Given the description of an element on the screen output the (x, y) to click on. 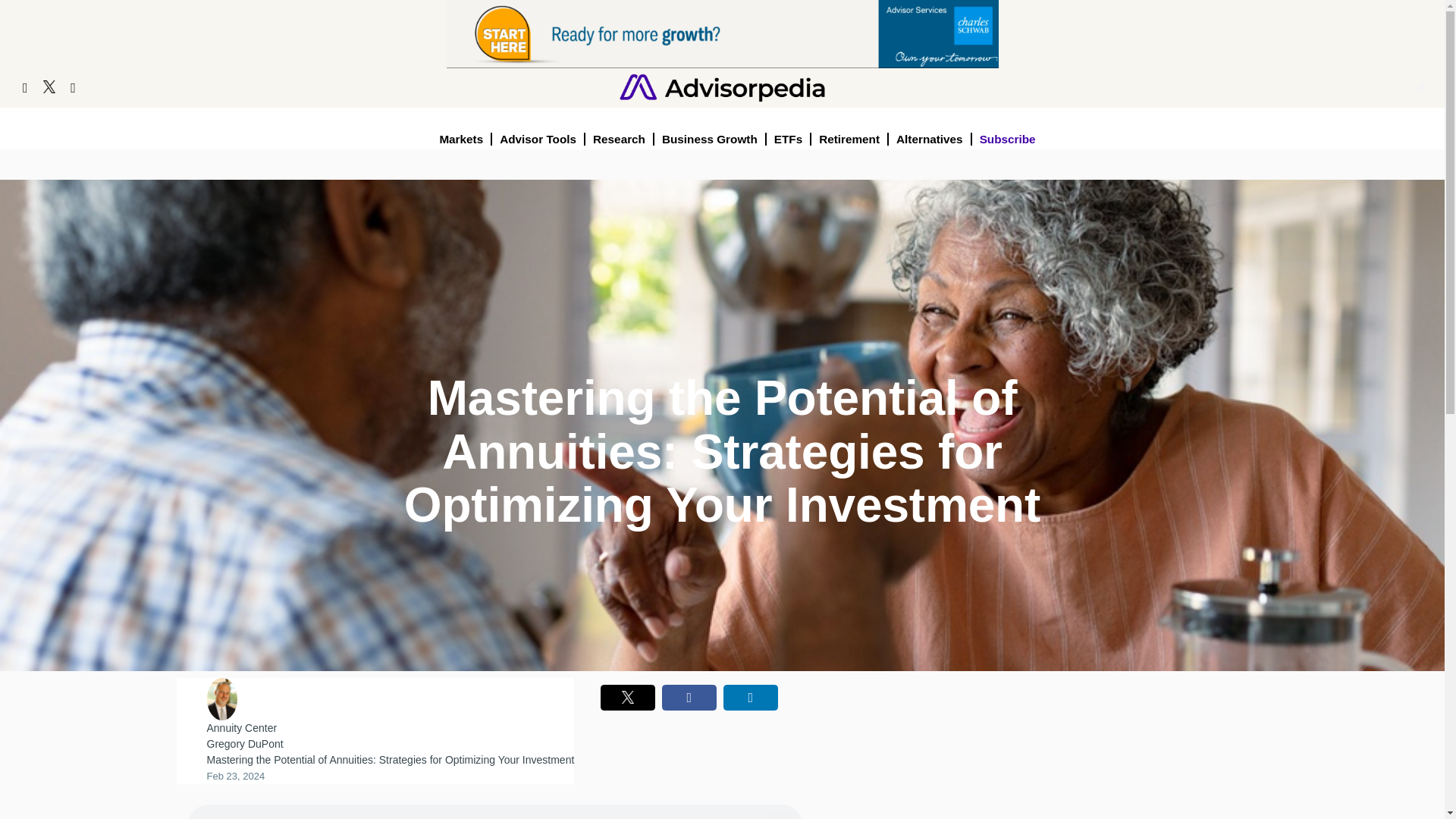
Advisor Tools (538, 138)
Home (721, 87)
Research (619, 138)
Alternatives (930, 138)
Retirement (849, 138)
Annuity Center (241, 727)
Share on LinkedIn (750, 697)
Subscribe (1007, 138)
ETFs (788, 138)
Gregory DuPont (244, 743)
Share on Facebook (689, 697)
Business Growth (710, 138)
Share on Twitter (627, 697)
Markets (461, 138)
